Given the description of an element on the screen output the (x, y) to click on. 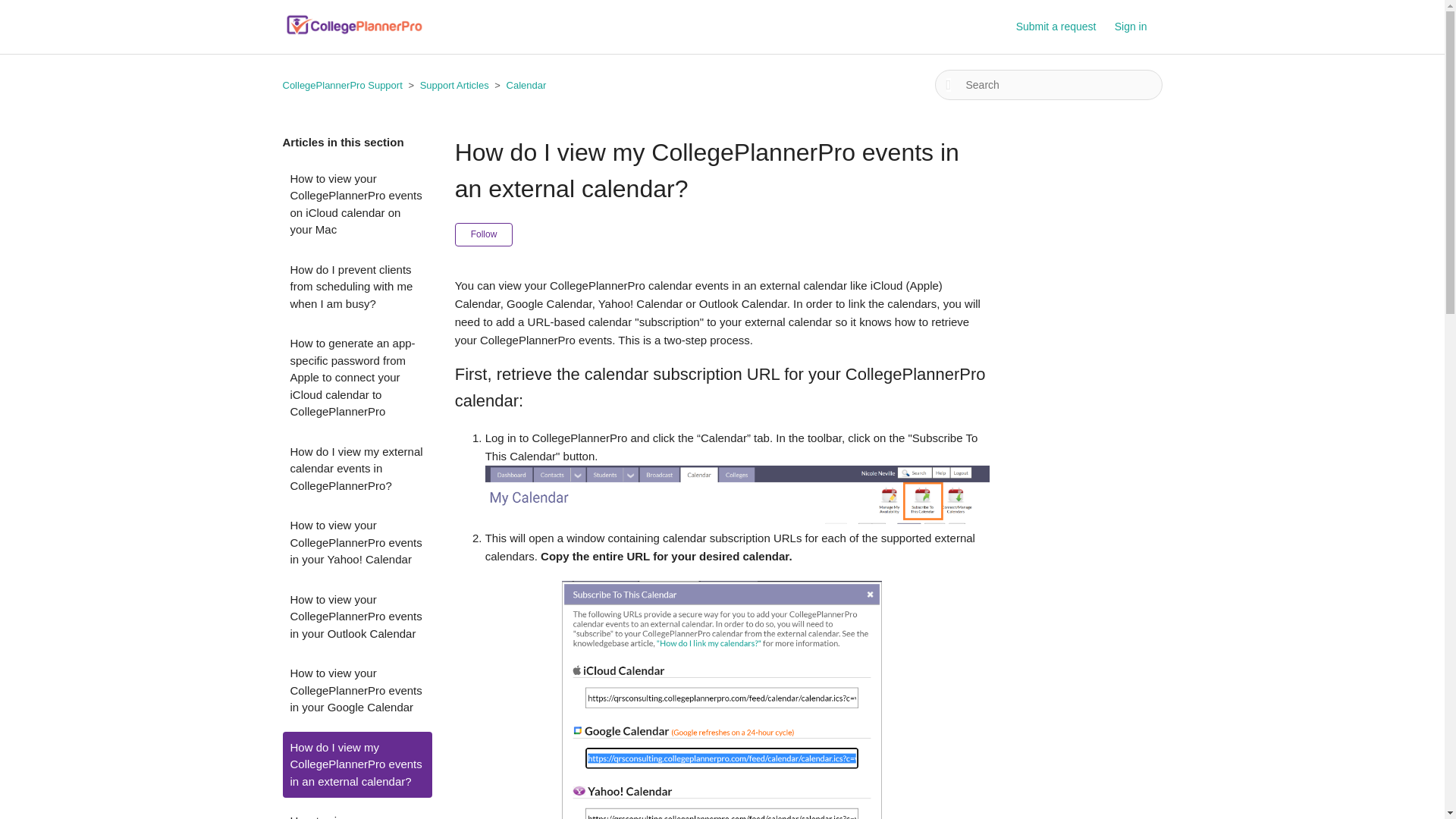
Opens a dialog (1138, 26)
Sign in (1138, 26)
Follow (483, 233)
Support Articles (448, 84)
Opens a sign-in dialog (483, 233)
CollegePlannerPro Support (341, 84)
Calendar (526, 84)
Calendar (519, 84)
CollegePlannerPro Support (343, 84)
Home (354, 33)
